Given the description of an element on the screen output the (x, y) to click on. 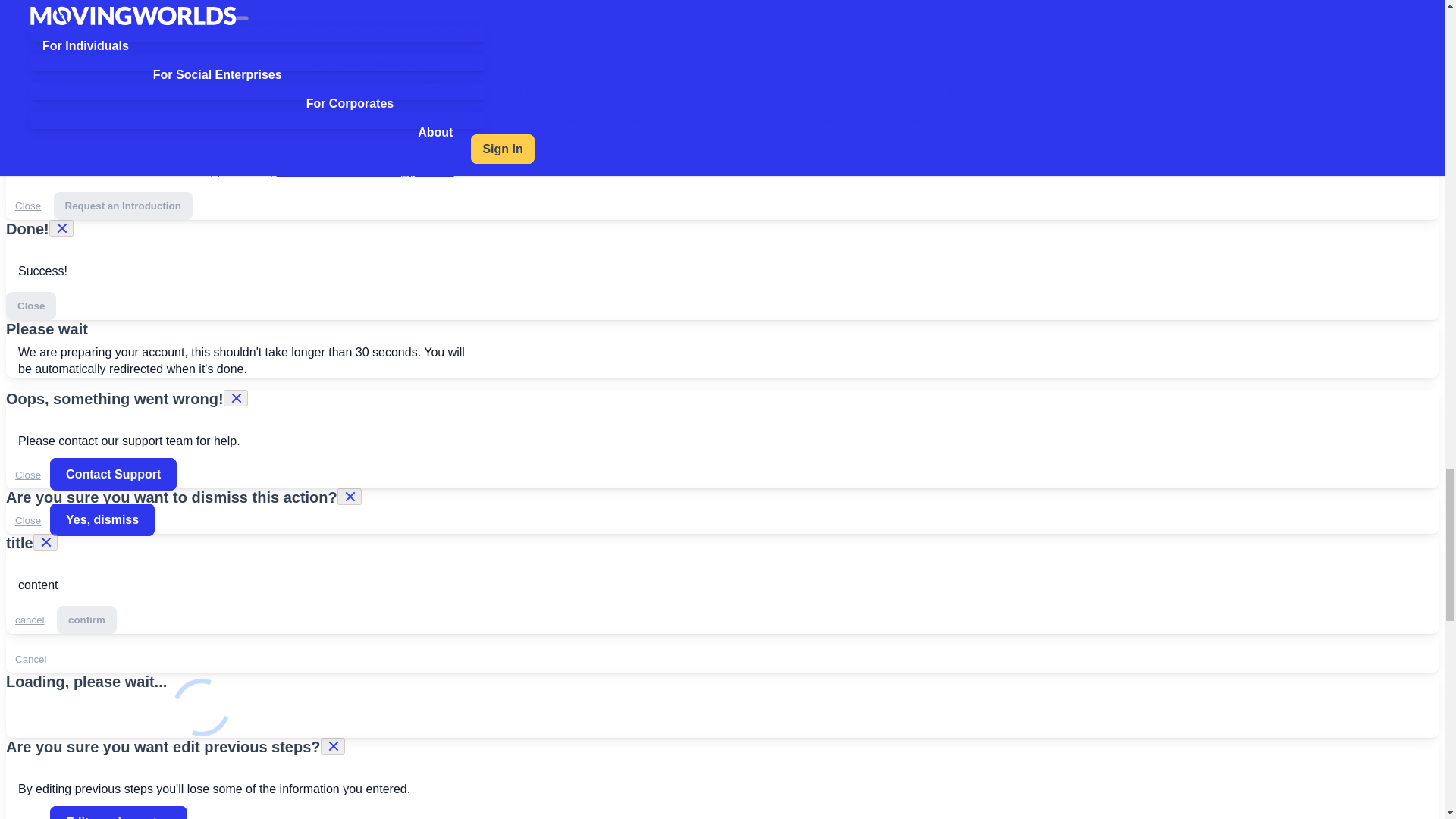
Close (27, 519)
Contact Support (112, 473)
Close (27, 474)
Request an Introduction (122, 205)
Close (30, 305)
read about our matching process (365, 170)
Close (27, 205)
